Given the description of an element on the screen output the (x, y) to click on. 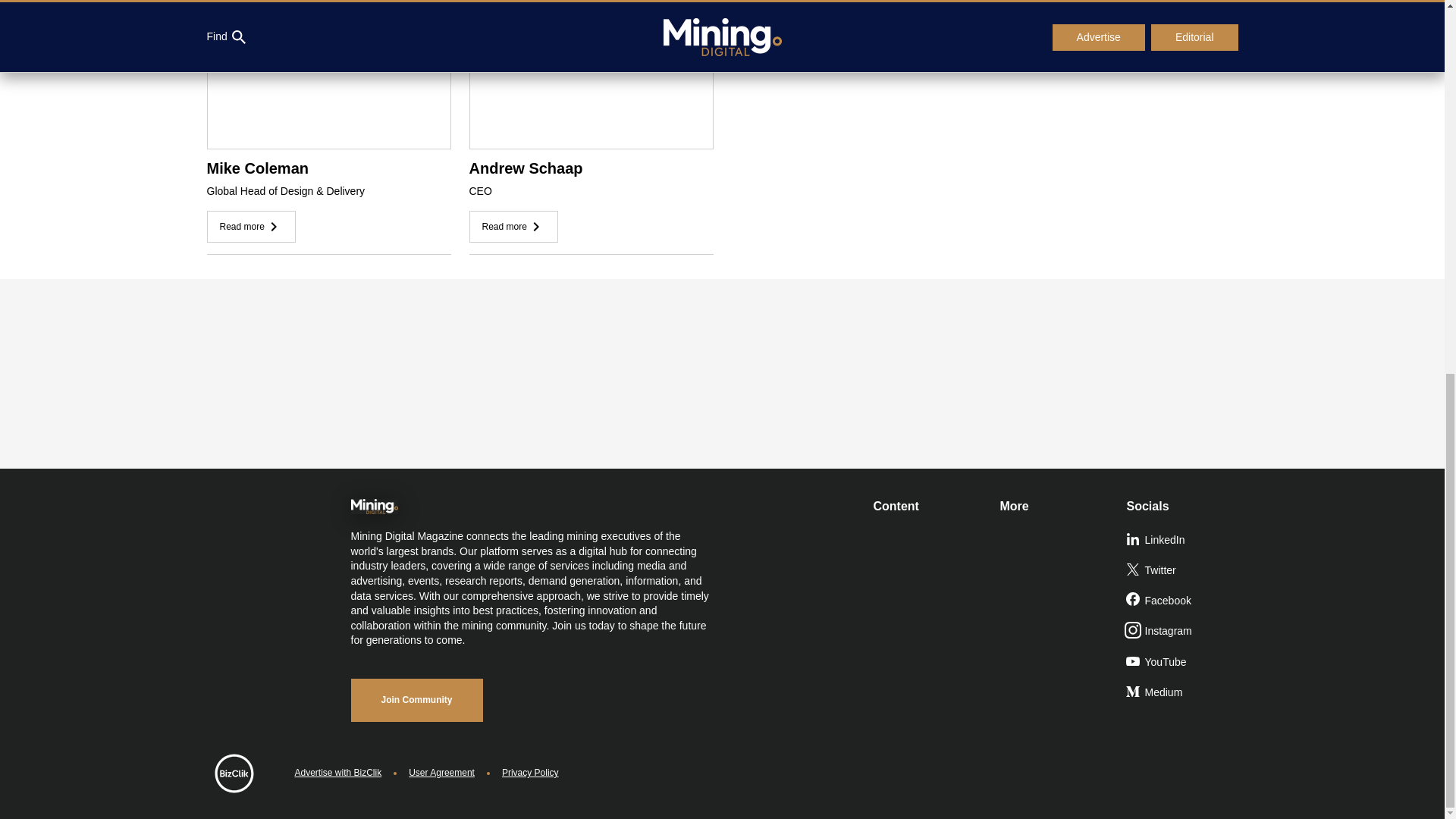
Facebook (1182, 601)
User Agreement (441, 772)
YouTube (1182, 662)
Instagram (1182, 631)
Join Community (415, 699)
Privacy Policy (530, 772)
Twitter (1182, 571)
LinkedIn (1182, 540)
Medium (1182, 693)
Advertise with BizClik (337, 772)
